Given the description of an element on the screen output the (x, y) to click on. 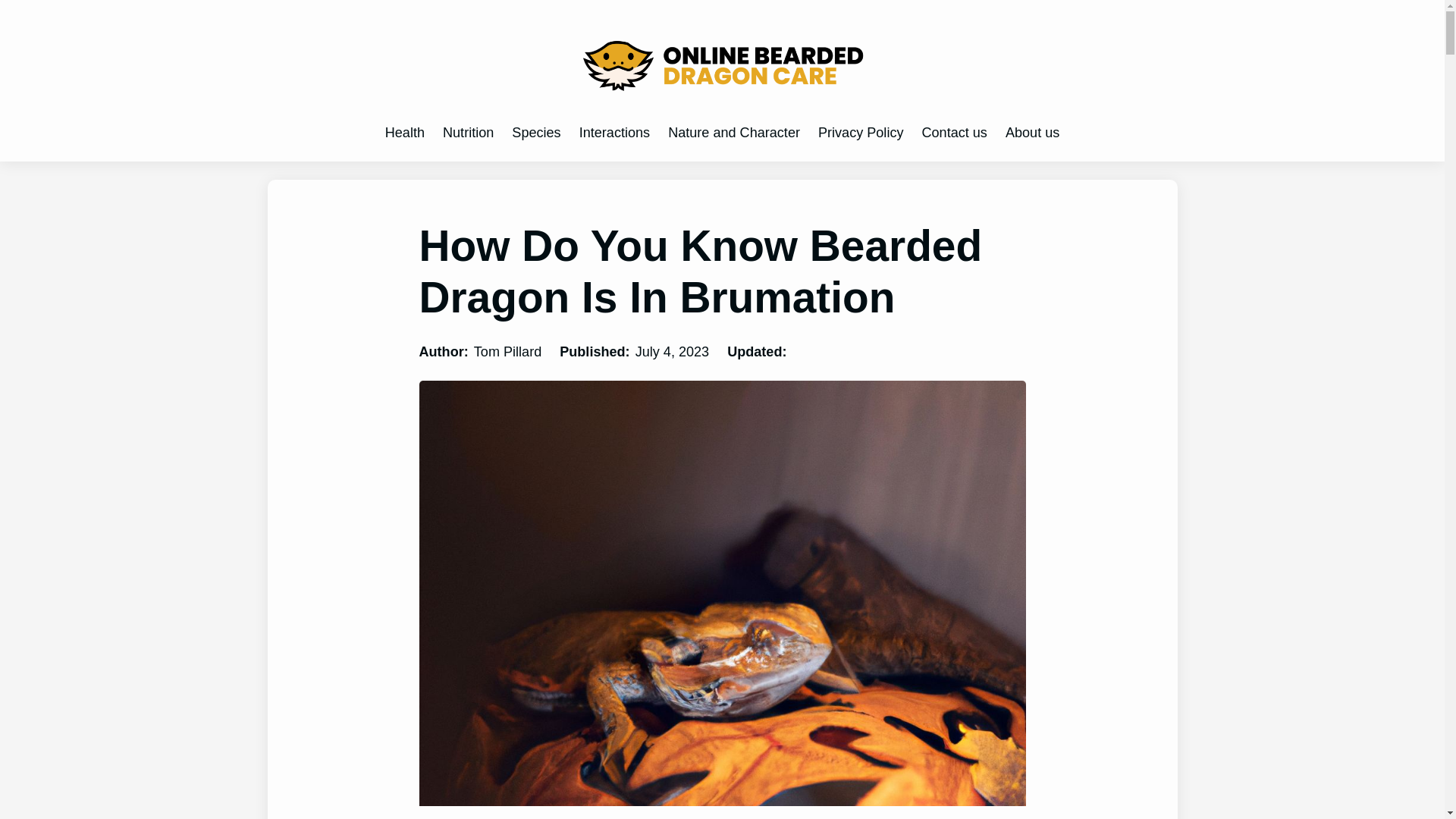
Contact us (954, 132)
About us (1032, 132)
Interactions (614, 132)
Privacy Policy (861, 132)
Nutrition (467, 132)
Nature and Character (733, 132)
Species (536, 132)
Health (405, 132)
